Given the description of an element on the screen output the (x, y) to click on. 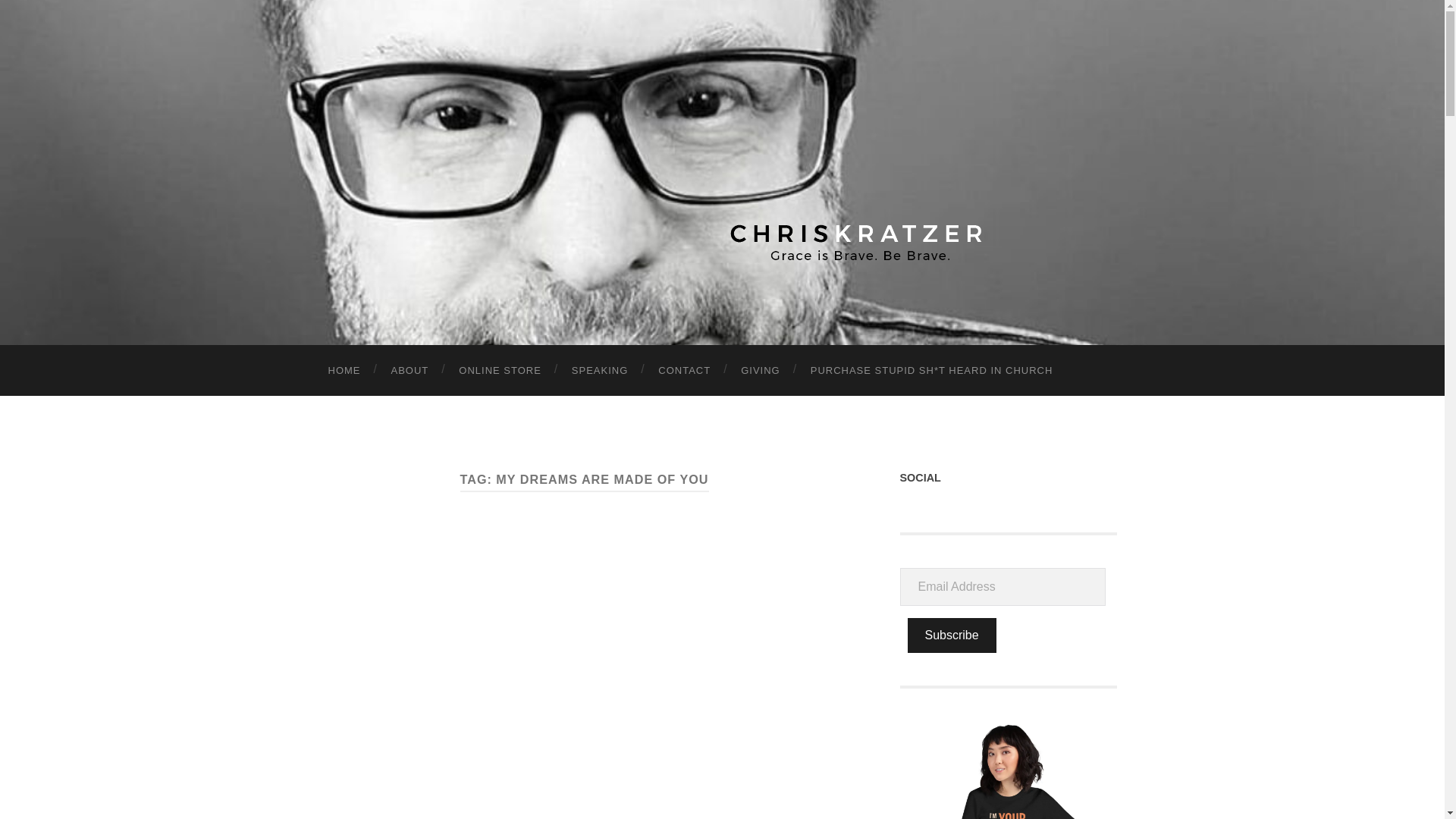
Subscribe (951, 635)
SPEAKING (599, 369)
ABOUT (409, 369)
GIVING (759, 369)
Chris Kratzer (722, 170)
CONTACT (684, 369)
HOME (344, 369)
ONLINE STORE (500, 369)
